Given the description of an element on the screen output the (x, y) to click on. 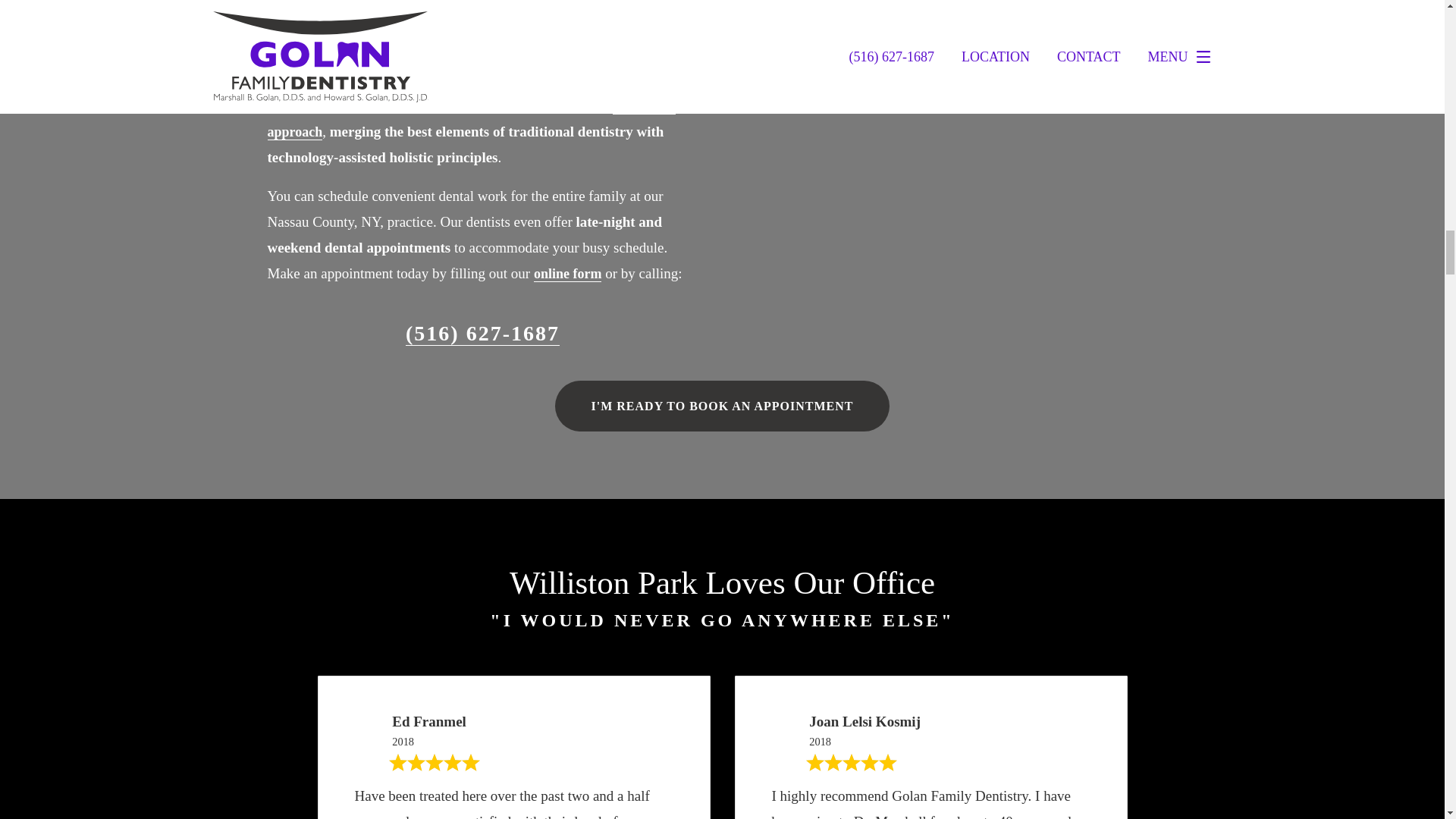
Golan Family Dentistry (457, 41)
I'M READY TO BOOK AN APPOINTMENT (721, 405)
Williston Park dental office (544, 80)
integrative approach (470, 119)
online form (568, 273)
